Given the description of an element on the screen output the (x, y) to click on. 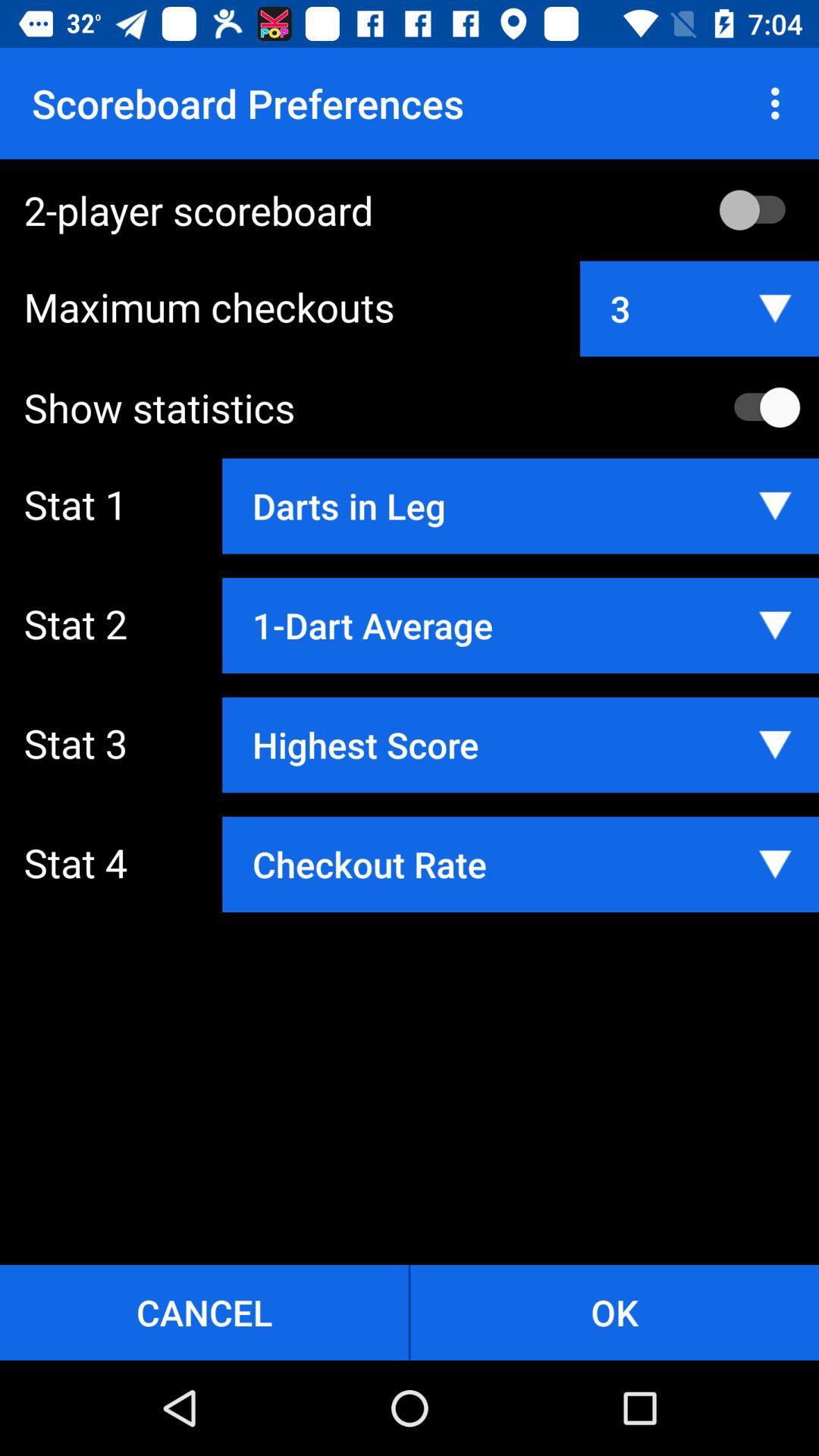
turn on button next to cancel button (614, 1312)
